Given the description of an element on the screen output the (x, y) to click on. 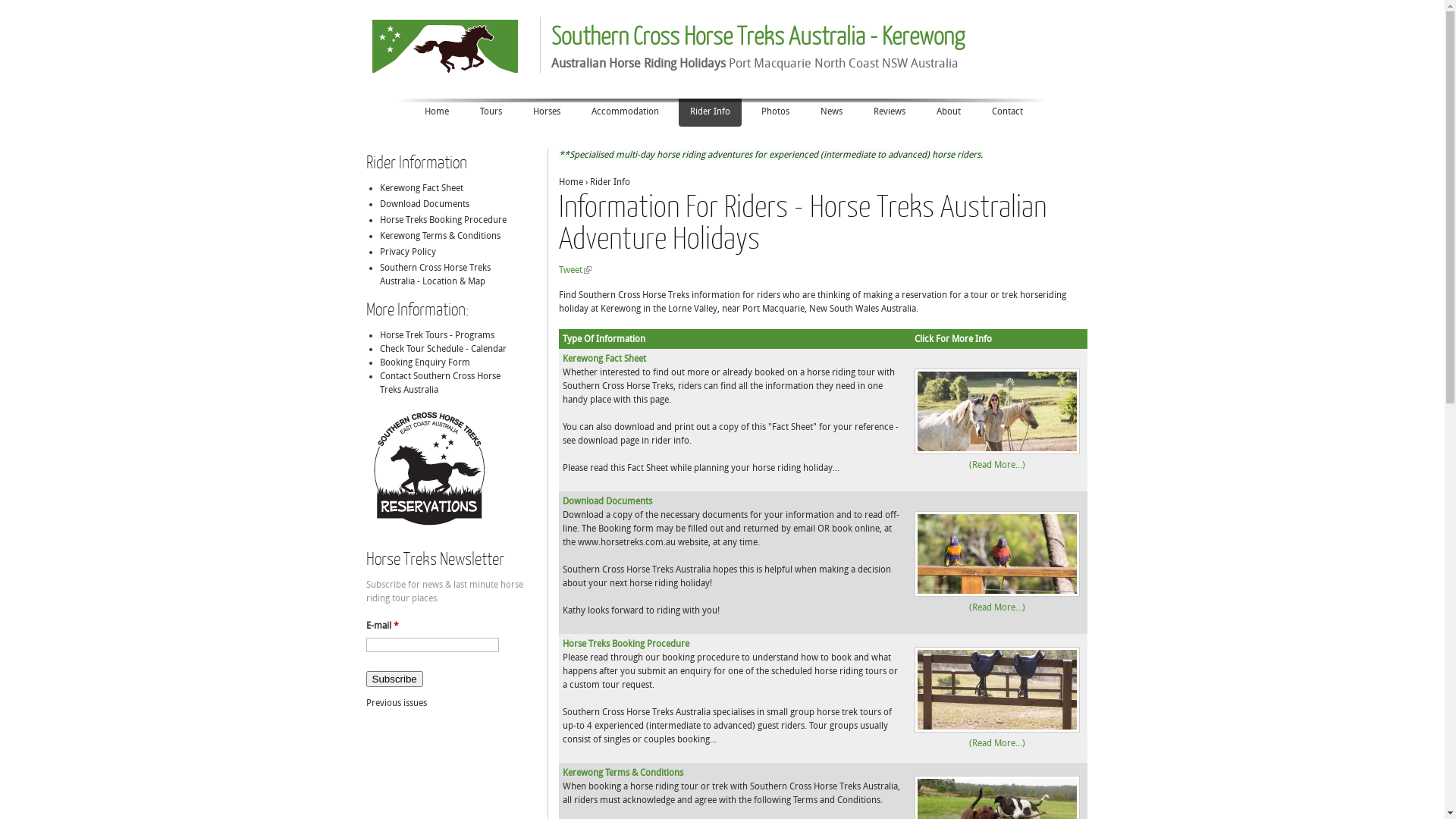
Home Element type: text (570, 181)
Southern Cross Horse Treks Australia - Kerewong Element type: text (756, 35)
Tweet
(link is external) Element type: text (574, 269)
News Element type: text (831, 112)
Kerewong Terms & Conditions Element type: text (622, 772)
(Read More...) Element type: text (996, 742)
Previous issues Element type: text (395, 702)
Check Tour Schedule - Calendar Element type: text (442, 348)
Photos Element type: text (774, 112)
Jump to Navigation Element type: text (722, 2)
Horse Trek Tours - Programs Element type: text (436, 334)
Home Element type: text (436, 112)
Download Documents Element type: text (423, 203)
Booking Enquiry Form Element type: text (424, 362)
Rider Info Element type: text (709, 112)
Contact Southern Cross Horse Treks Australia Element type: text (439, 382)
Kerewong Fact Sheet Element type: text (420, 187)
Rider Info Element type: text (609, 181)
Accommodation Element type: text (625, 112)
Contact Element type: text (1007, 112)
Kerewong Terms & Conditions Element type: text (439, 235)
Southern Cross Horse Treks Australia Element type: hover (445, 39)
Horse Treks Booking Procedure Element type: text (625, 643)
Subscribe Element type: text (393, 679)
About Element type: text (948, 112)
Horse Treks Booking Procedure Element type: text (442, 219)
Kerewong Fact Sheet Element type: text (604, 358)
(Read More...) Element type: text (996, 464)
Download Documents Element type: text (607, 500)
Tours Element type: text (490, 112)
(Read More...) Element type: text (996, 607)
Southern Cross Horse Treks Australia - Location & Map Element type: text (434, 274)
Horses Element type: text (546, 112)
Privacy Policy Element type: text (407, 251)
Reviews Element type: text (889, 112)
